Given the description of an element on the screen output the (x, y) to click on. 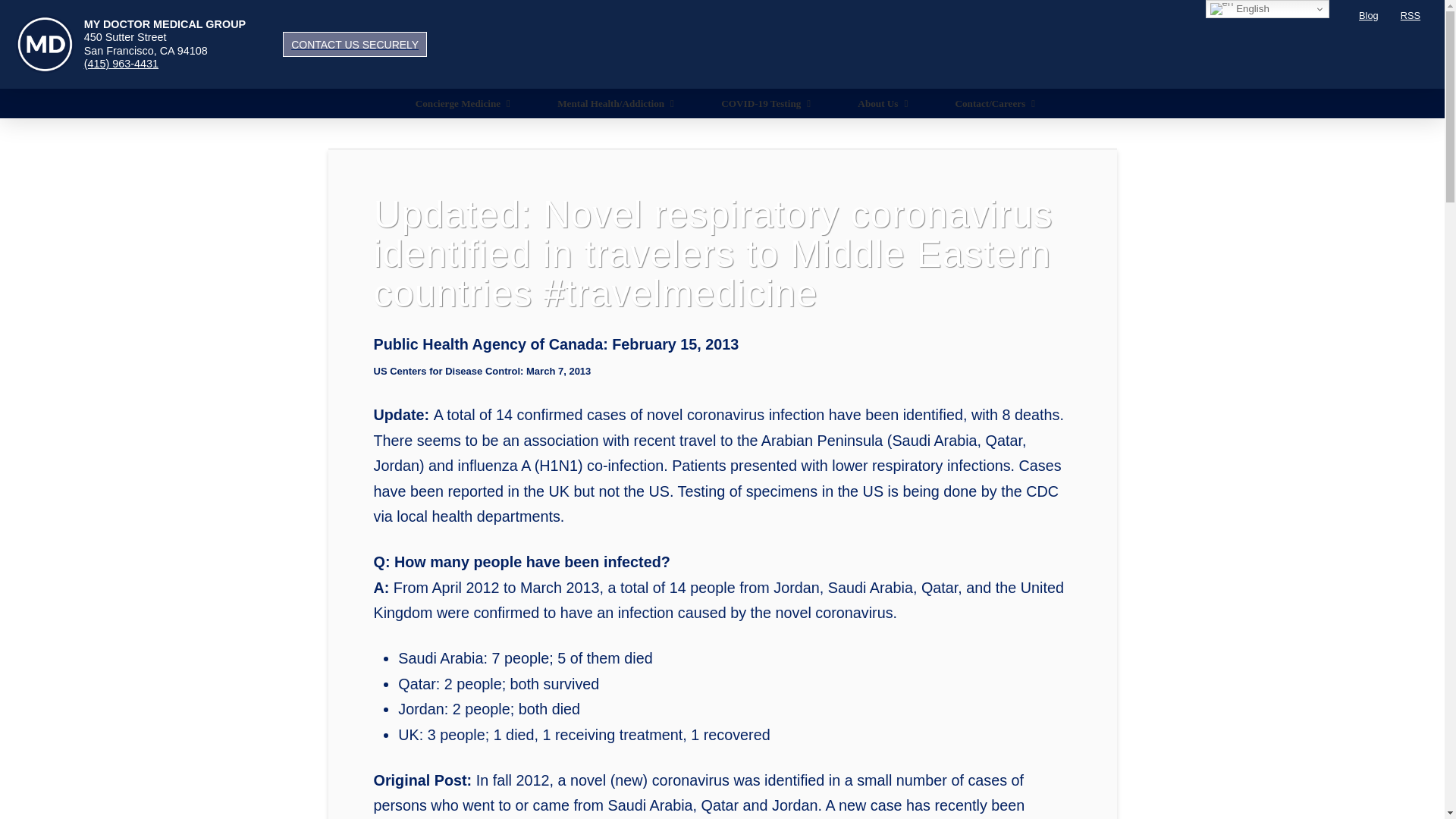
CONTACT US SECURELY (354, 43)
Blog (1368, 15)
RSS (1410, 15)
